Given the description of an element on the screen output the (x, y) to click on. 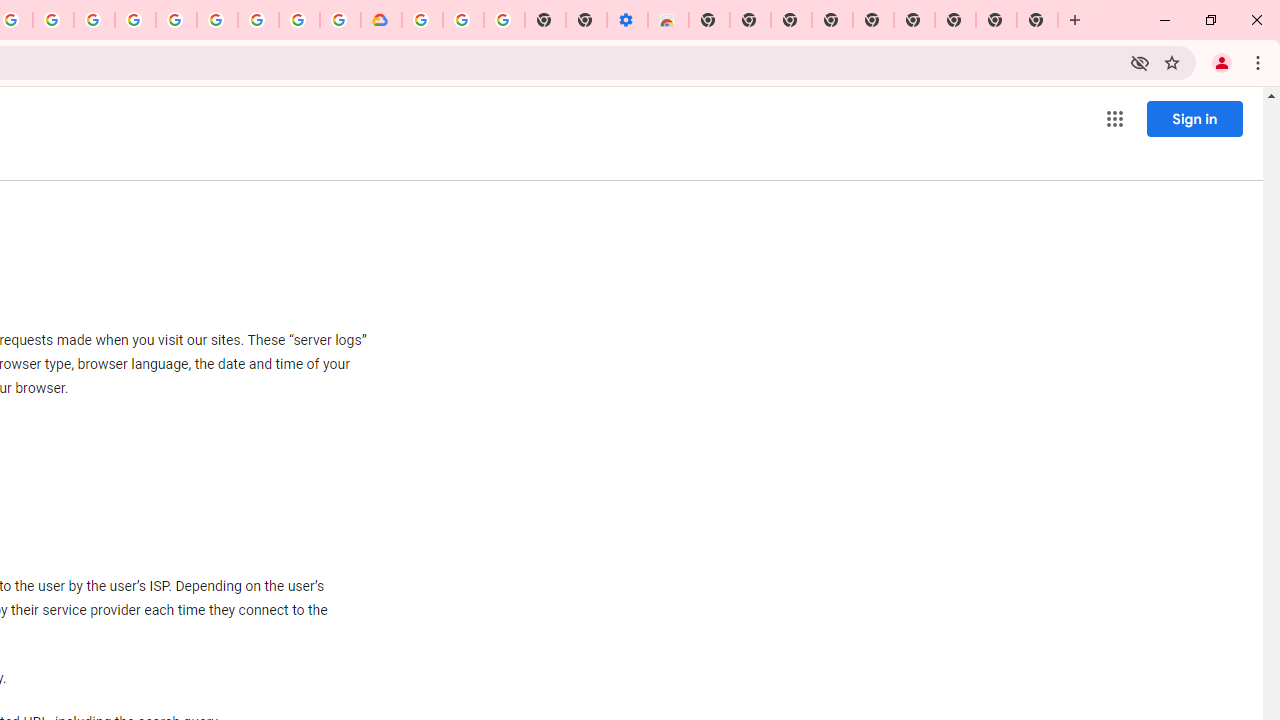
Chrome Web Store - Accessibility extensions (667, 20)
New Tab (1037, 20)
Create your Google Account (53, 20)
Create your Google Account (299, 20)
Sign in - Google Accounts (176, 20)
Turn cookies on or off - Computer - Google Account Help (503, 20)
Google Account Help (462, 20)
